Given the description of an element on the screen output the (x, y) to click on. 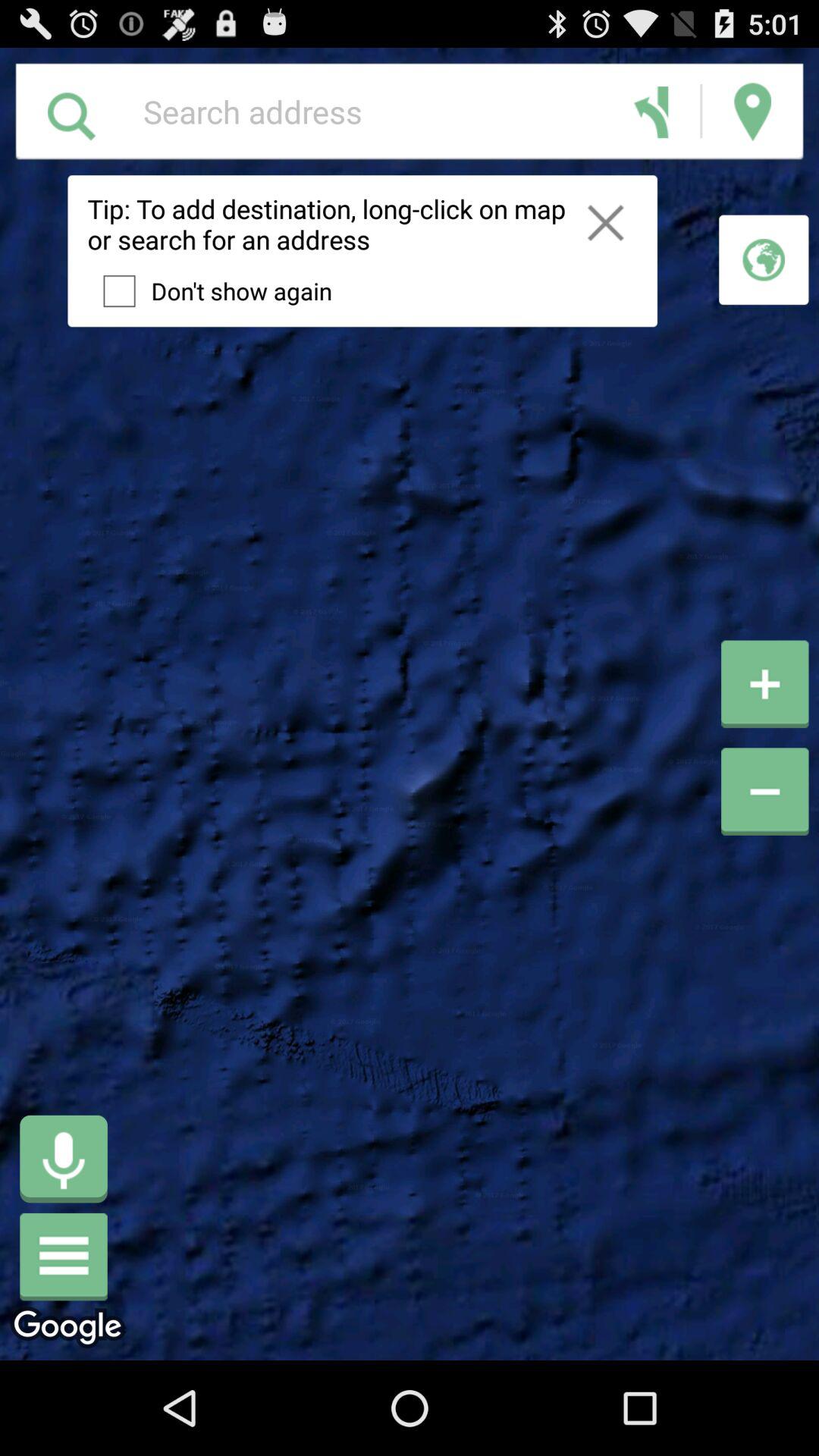
scroll to the don t show item (209, 291)
